Given the description of an element on the screen output the (x, y) to click on. 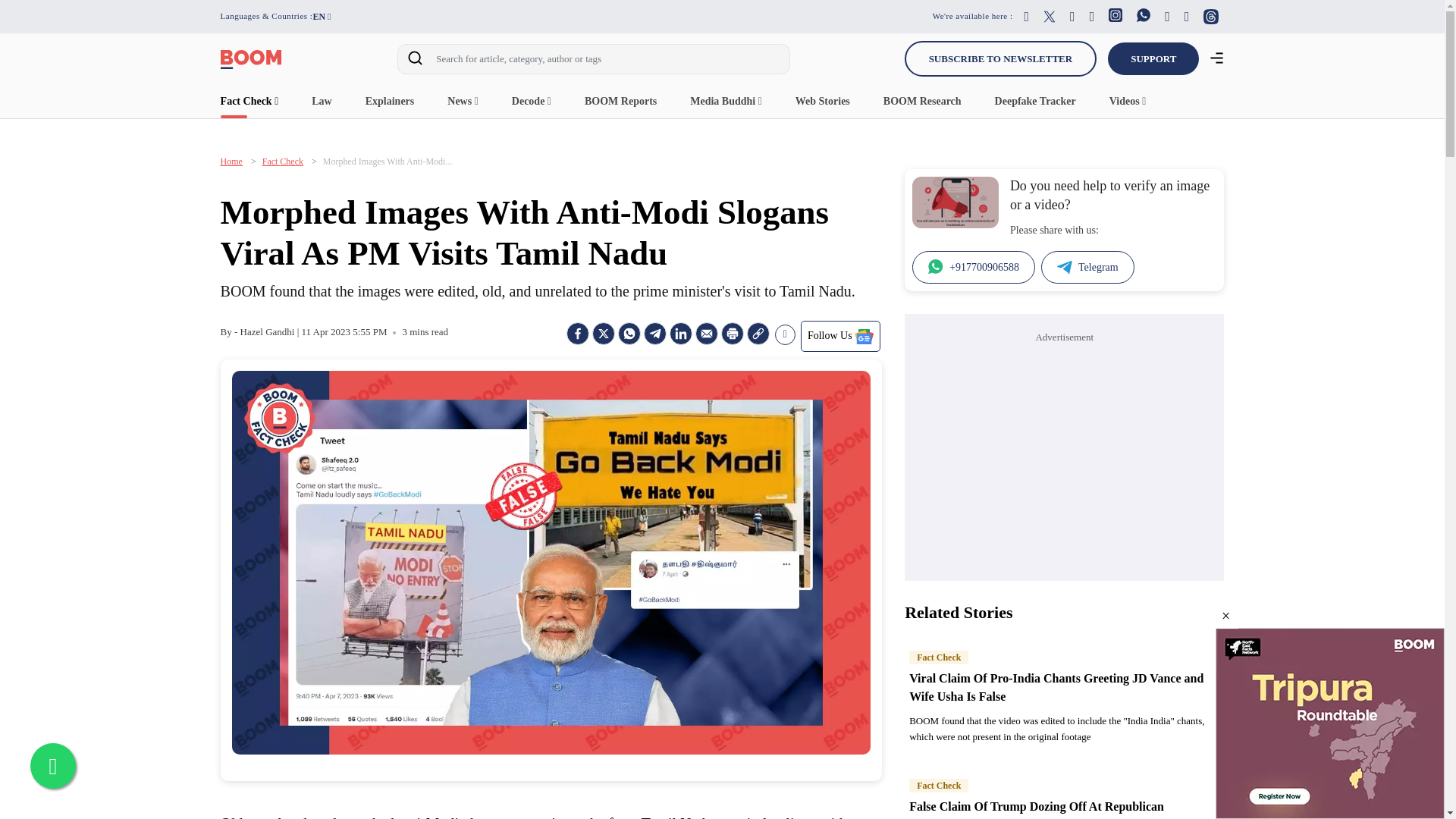
Start Search (414, 61)
EN (321, 17)
